Given the description of an element on the screen output the (x, y) to click on. 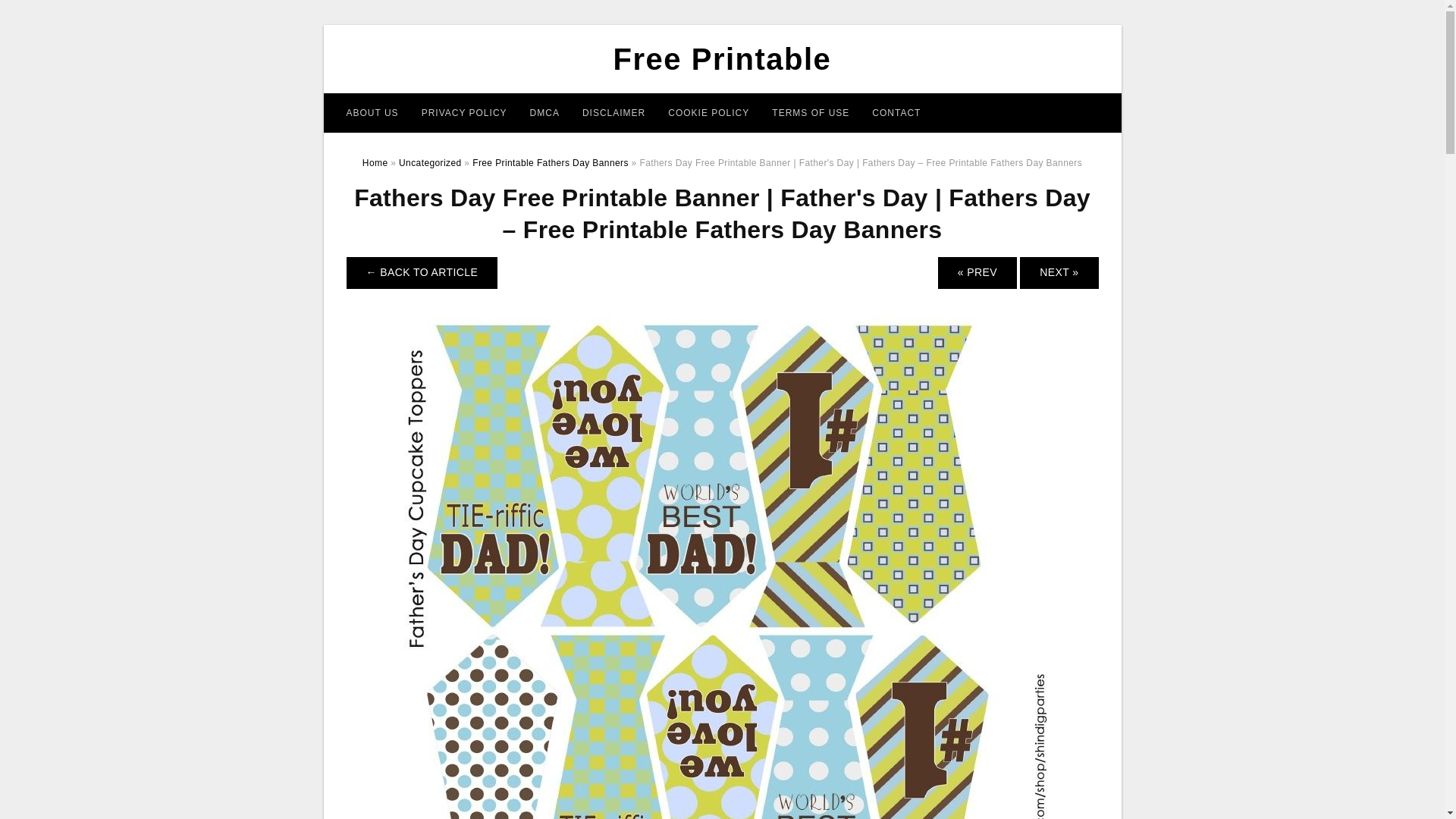
Free Printable Fathers Day Banners (549, 163)
Return to Free Printable Fathers Day Banners (421, 272)
PRIVACY POLICY (464, 112)
CONTACT (895, 112)
DMCA (544, 112)
COOKIE POLICY (708, 112)
Uncategorized (429, 163)
Free Printable (721, 59)
ABOUT US (372, 112)
